Given the description of an element on the screen output the (x, y) to click on. 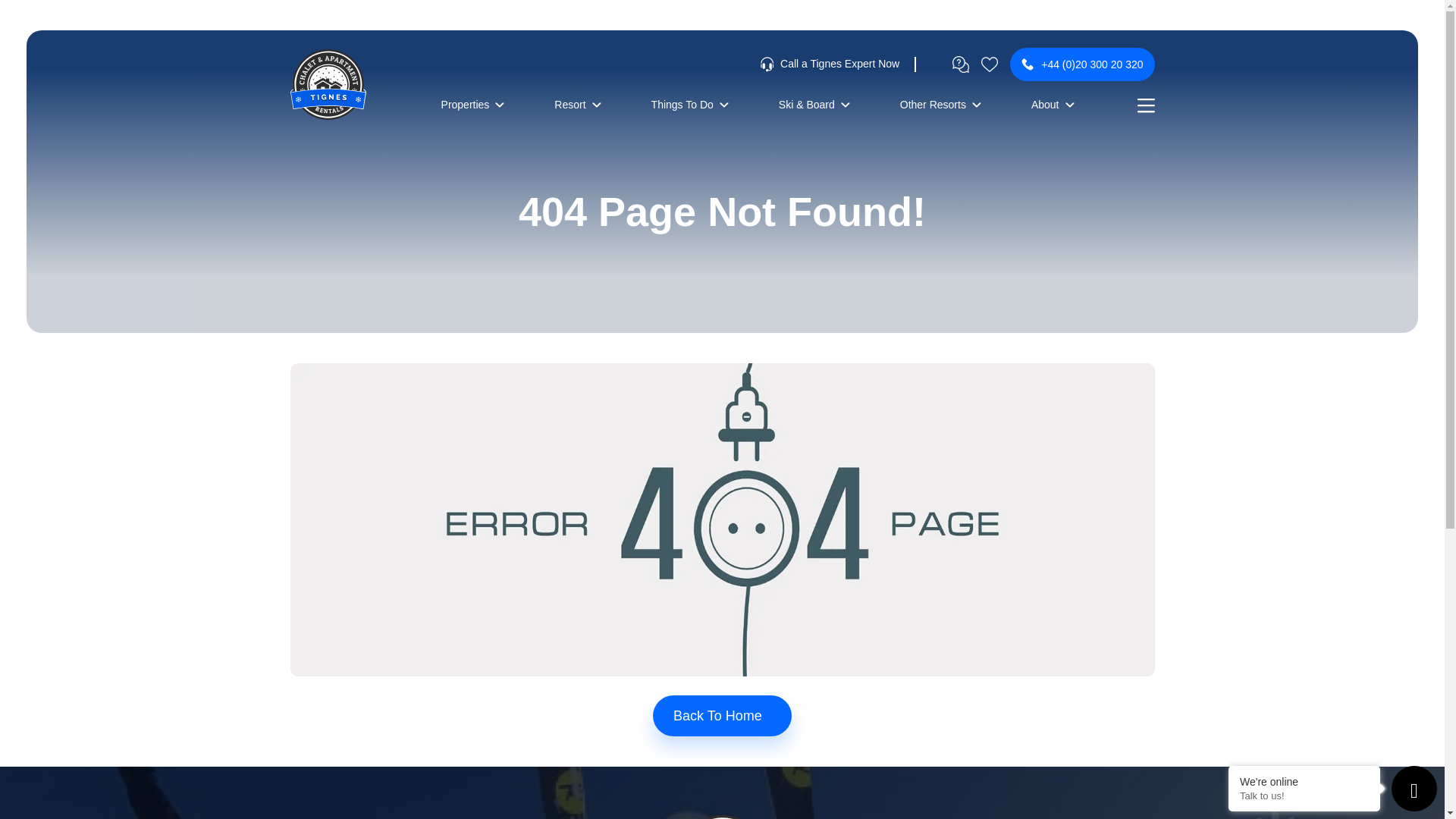
Resort (576, 104)
About (1052, 104)
Properties (473, 104)
Talk to us! (1304, 795)
We're online (1304, 781)
Other Resorts (940, 104)
Things To Do (689, 104)
Call a Tignes Expert Now (829, 64)
